Given the description of an element on the screen output the (x, y) to click on. 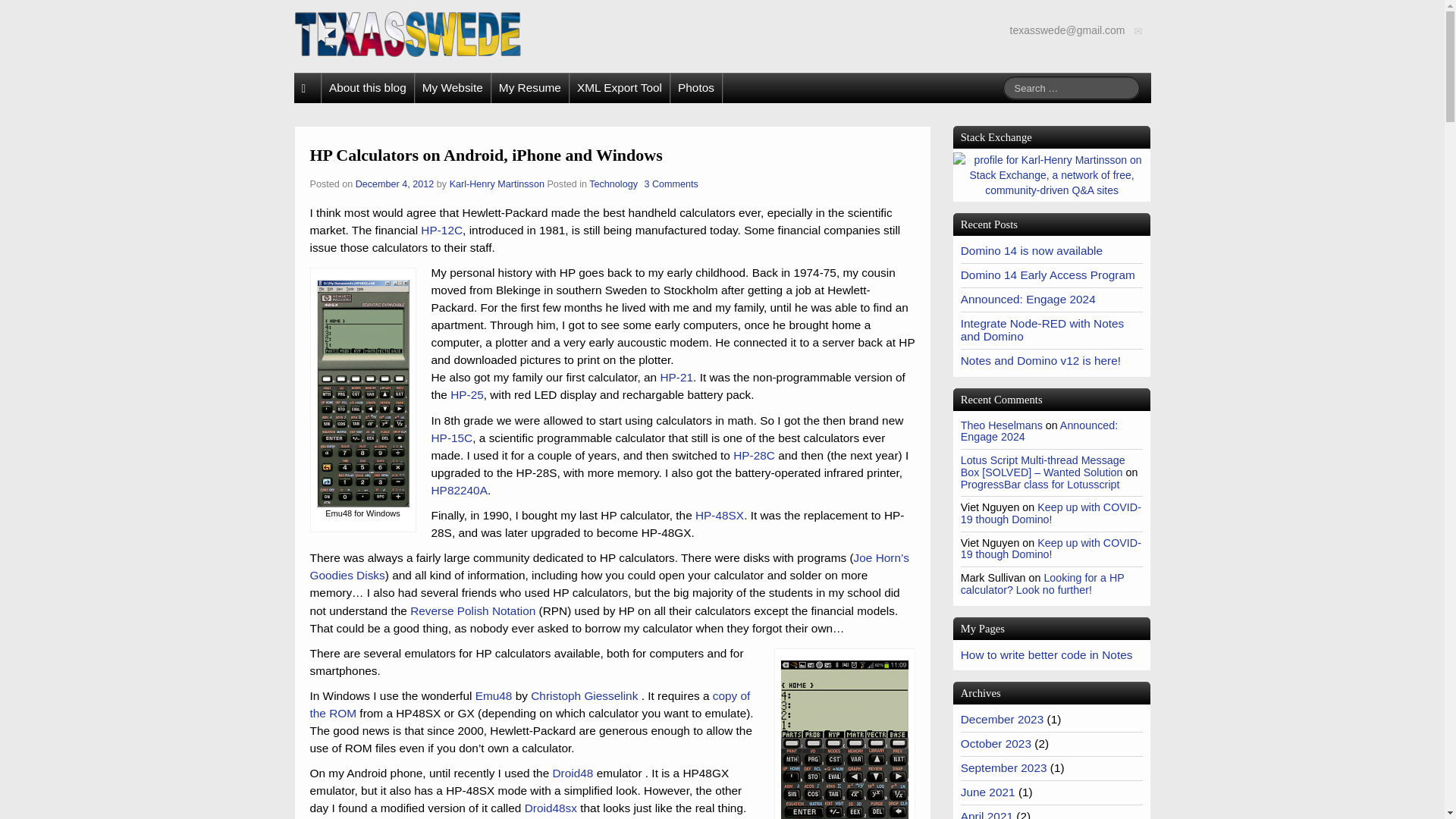
TexasSwede (407, 33)
Droid48 (571, 772)
20:00 (395, 184)
HP-25 (466, 394)
HP82240A (458, 490)
My Resume (530, 87)
Reverse Polish Notation (472, 610)
Droid48sx (550, 807)
HP-48SX (719, 514)
Photos (695, 87)
HP-21 (676, 377)
Technology (613, 184)
HP-28C (753, 454)
copy of the ROM (528, 704)
XML Export Tool (619, 87)
